Given the description of an element on the screen output the (x, y) to click on. 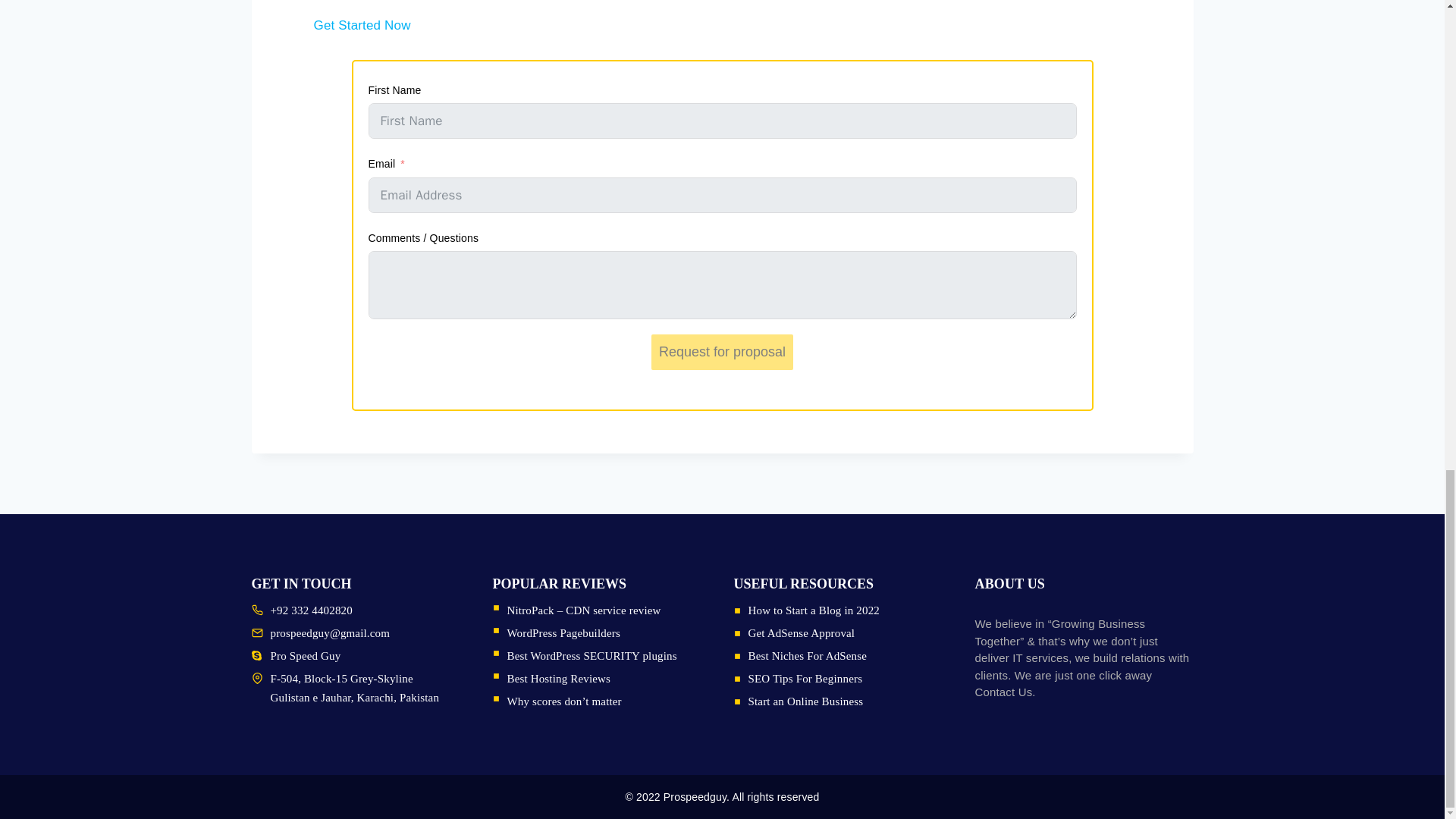
SEO Tips For Beginners (804, 678)
Best Hosting Reviews (558, 678)
Start an Online Business (805, 701)
How to Start a Blog in 2022 (813, 610)
Pro Speed Guy (304, 655)
Best Niches For AdSense (807, 655)
Best WordPress SECURITY plugins (591, 655)
Get Started Now (362, 35)
Request for proposal (721, 352)
WordPress Pagebuilders (563, 633)
Get AdSense Approval (801, 633)
